Given the description of an element on the screen output the (x, y) to click on. 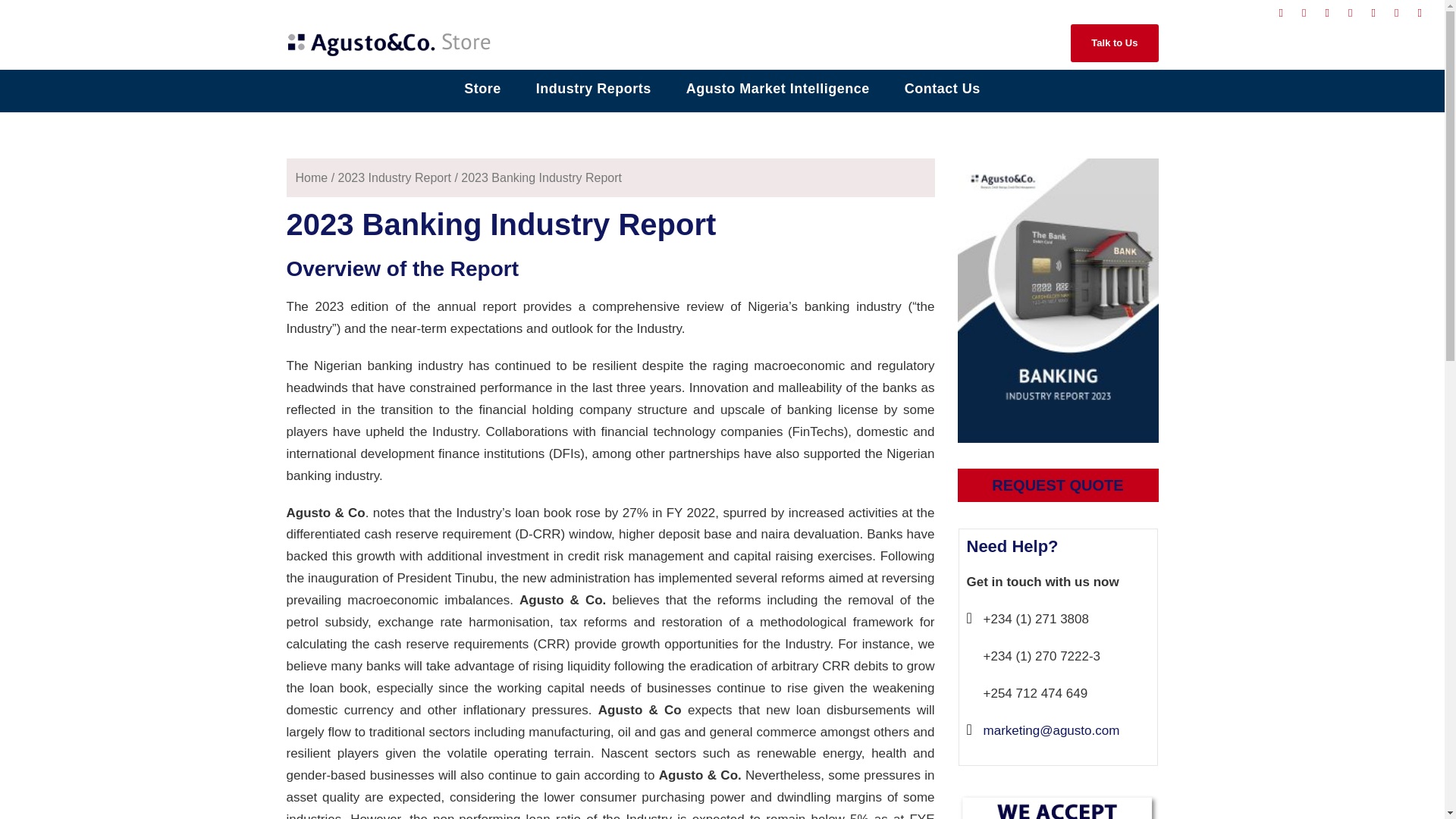
Contact Us (941, 94)
Industry Reports (592, 94)
Agusto Market Intelligence (777, 94)
Home (312, 177)
2023 Industry Report (394, 177)
REQUEST QUOTE (1056, 484)
Store (482, 94)
agustologo4 (390, 43)
Talk to Us (1113, 43)
